Given the description of an element on the screen output the (x, y) to click on. 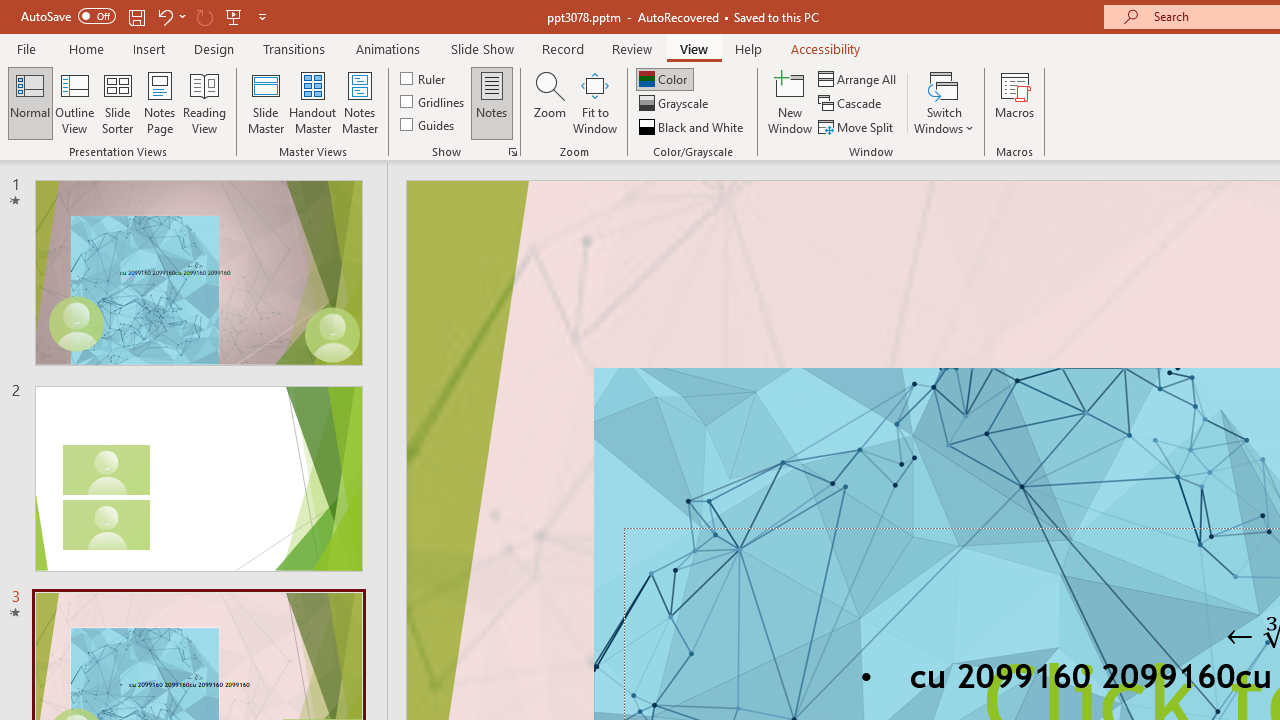
Review (631, 48)
New Window (790, 102)
Black and White (693, 126)
Gridlines (433, 101)
Slide (198, 478)
Design (214, 48)
Customize Quick Access Toolbar (262, 15)
Reading View (204, 102)
Grayscale (675, 103)
File Tab (26, 48)
Grid Settings... (512, 151)
Redo (204, 15)
